Given the description of an element on the screen output the (x, y) to click on. 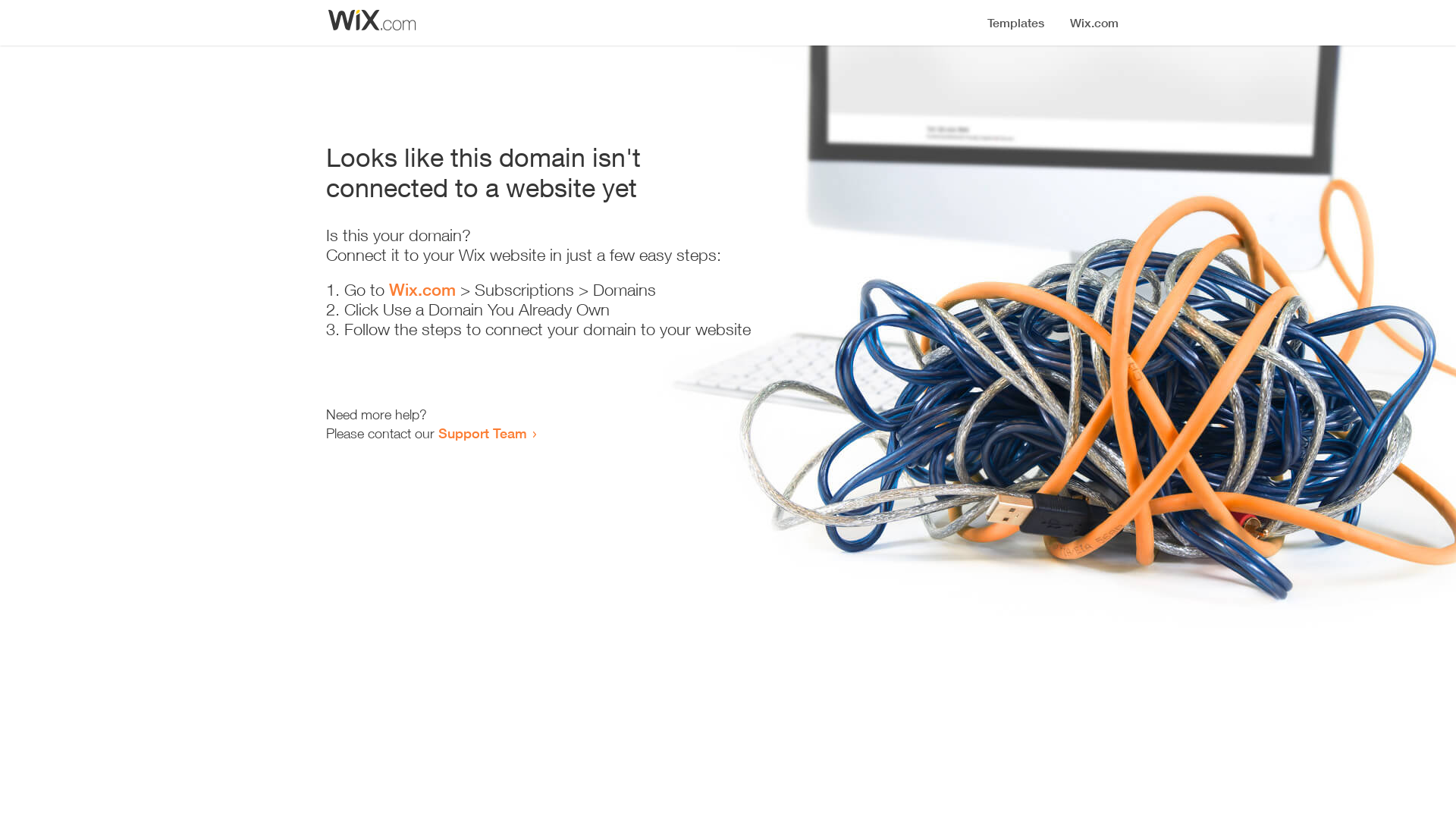
Wix.com Element type: text (422, 289)
Support Team Element type: text (482, 432)
